Given the description of an element on the screen output the (x, y) to click on. 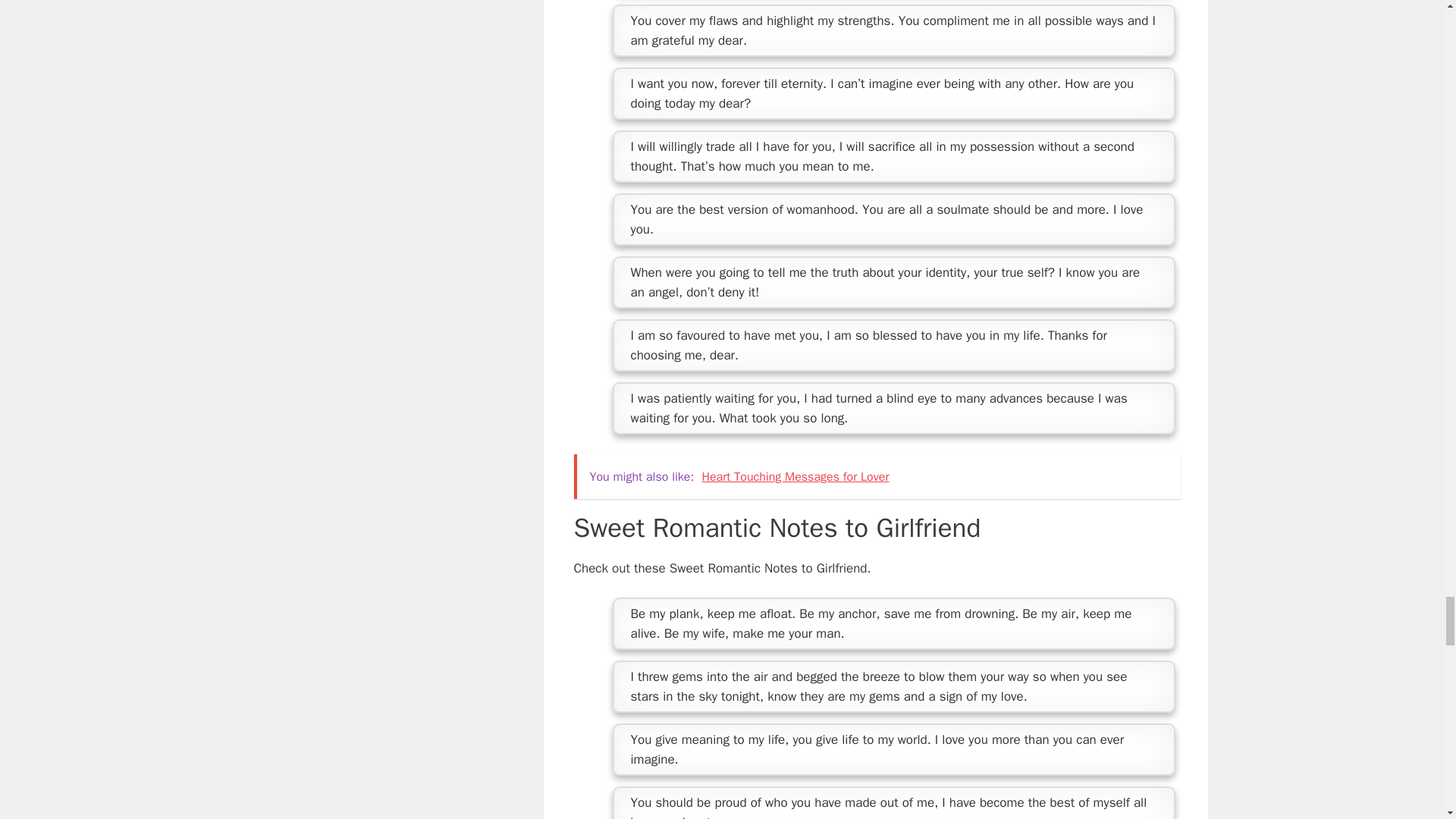
You might also like:  Heart Touching Messages for Lover (876, 476)
